Given the description of an element on the screen output the (x, y) to click on. 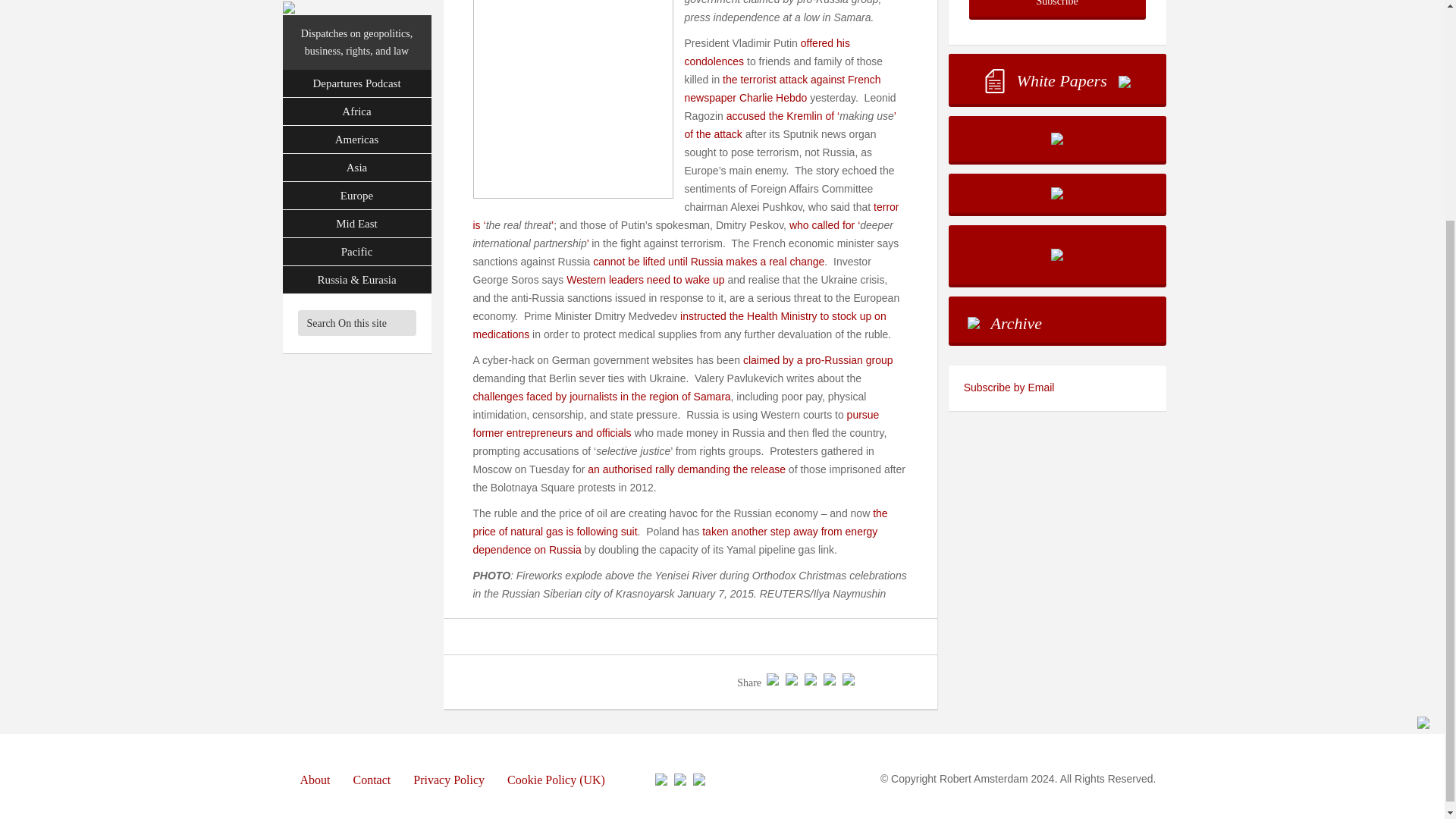
Subscribe (1057, 8)
taken another step away from energy dependence on Russia (675, 540)
the price of natural gas is following suit (680, 521)
Western leaders need to wake up (644, 279)
Europe (356, 7)
instructed the Health Ministry to stock up on medications (679, 325)
Pacific (356, 57)
an authorised rally demanding the release (687, 469)
cannot be lifted until Russia makes a real change (708, 261)
pursue former entrepreneurs and officials (676, 423)
claimed by a pro-Russian group (817, 359)
Mid East (356, 29)
the terrorist attack against French newspaper Charlie Hebdo (782, 88)
offered his condolences (766, 51)
challenges faced by journalists in the region of Samara (601, 396)
